Given the description of an element on the screen output the (x, y) to click on. 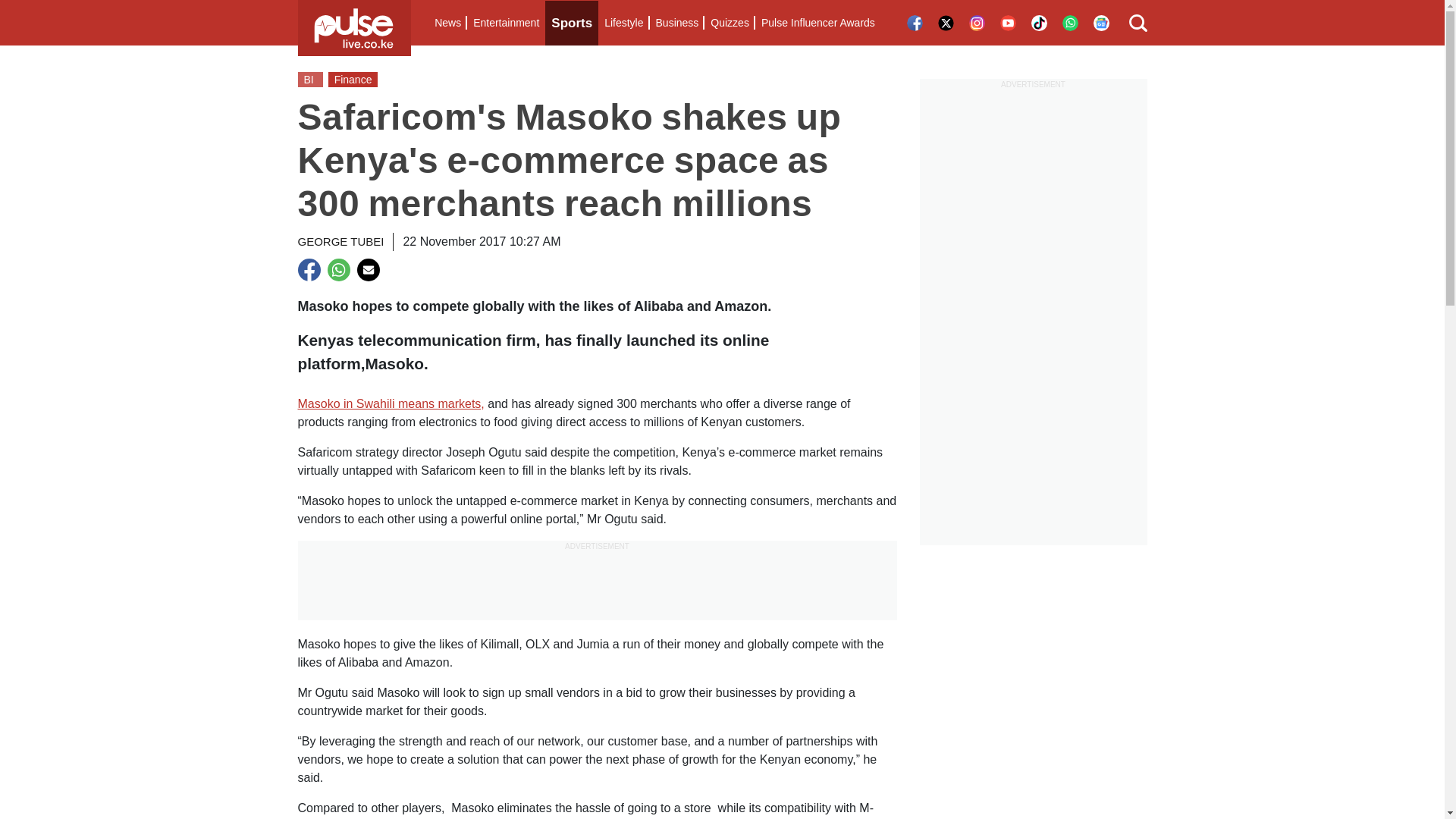
Quizzes (729, 22)
Business (676, 22)
Lifestyle (623, 22)
Sports (571, 22)
Entertainment (505, 22)
Pulse Influencer Awards (817, 22)
